Given the description of an element on the screen output the (x, y) to click on. 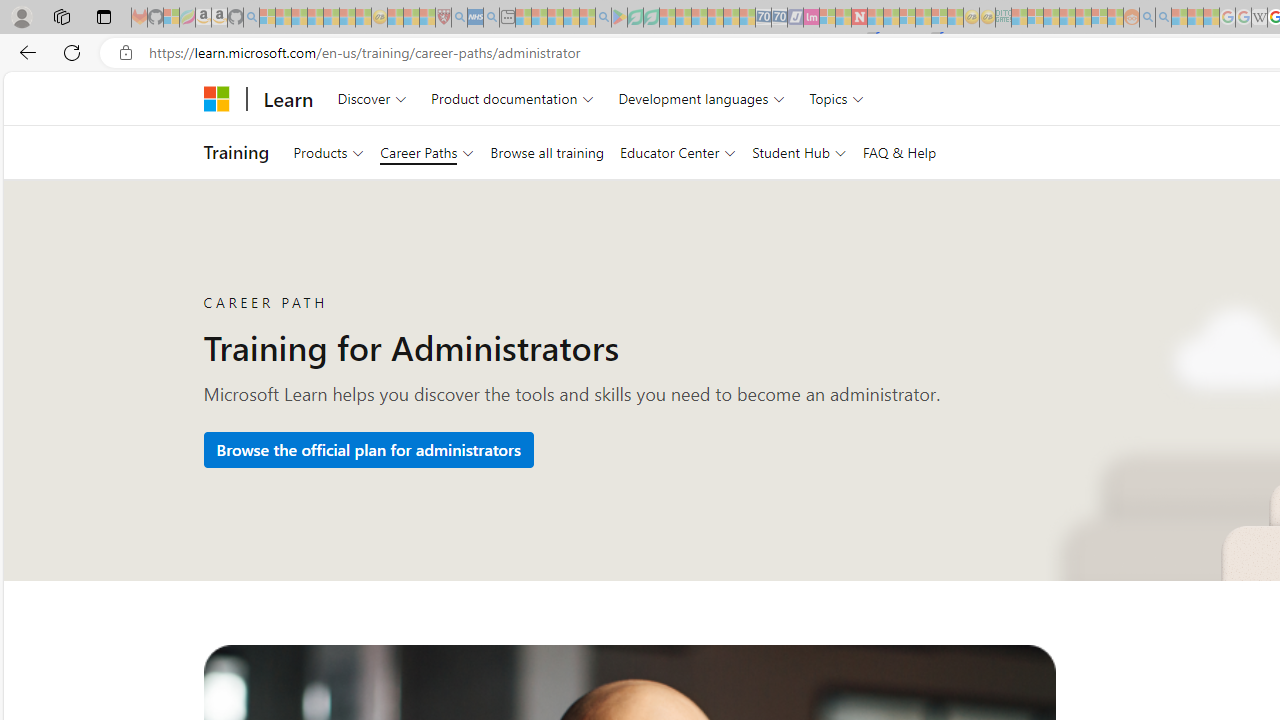
FAQ & Help (898, 152)
Student Hub (799, 152)
Career Paths (427, 152)
